Given the description of an element on the screen output the (x, y) to click on. 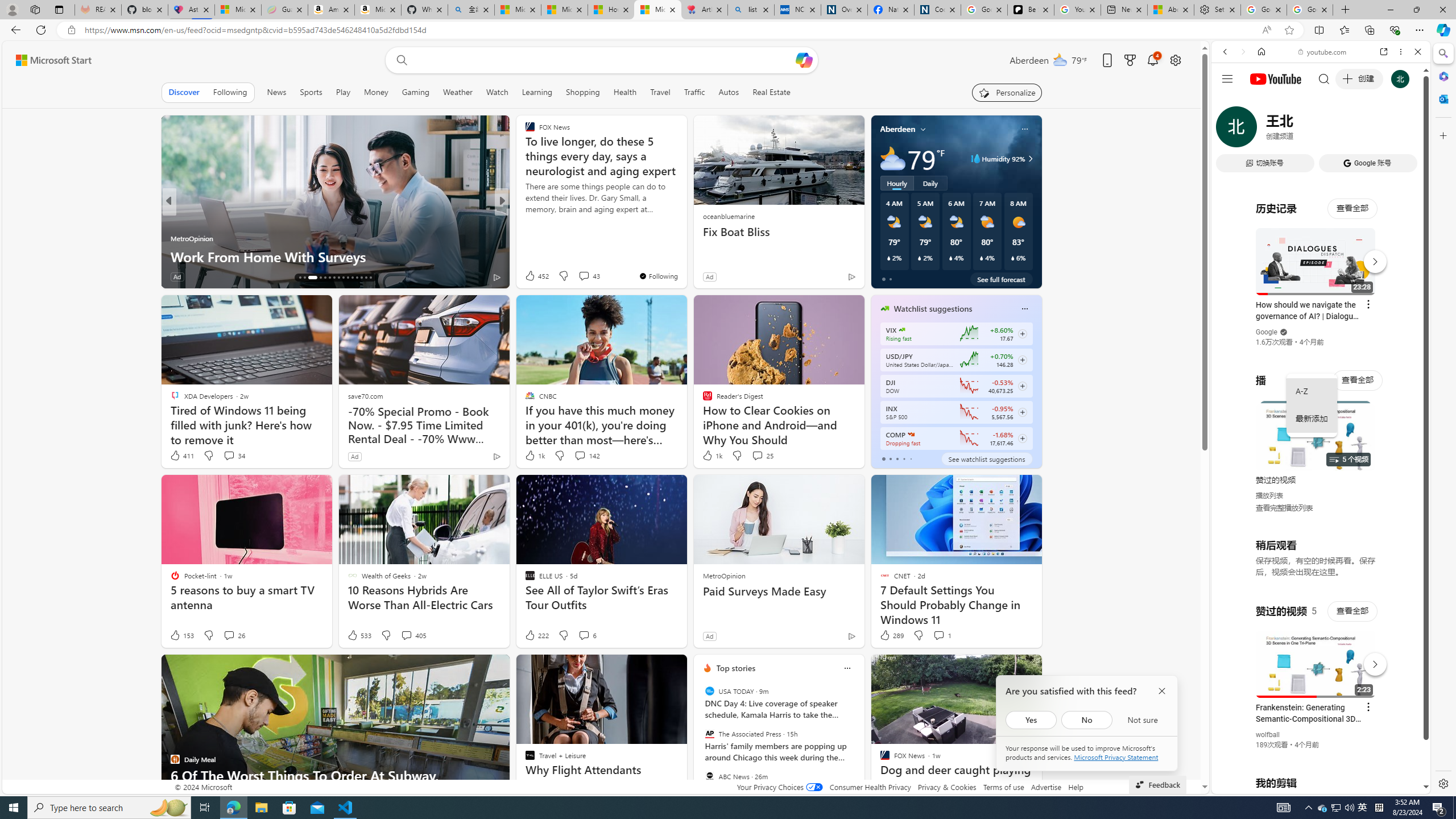
Discover (183, 92)
Global web icon (1232, 655)
View comments 25 Comment (756, 455)
AutomationID: tab-26 (352, 277)
See full forecast (1000, 278)
Savvy Dime (524, 219)
Notifications (1152, 60)
Health (624, 92)
Search videos from youtube.com (1299, 373)
Sports (310, 92)
US[ju] (1249, 785)
Close Outlook pane (1442, 98)
6 Like (529, 276)
